Given the description of an element on the screen output the (x, y) to click on. 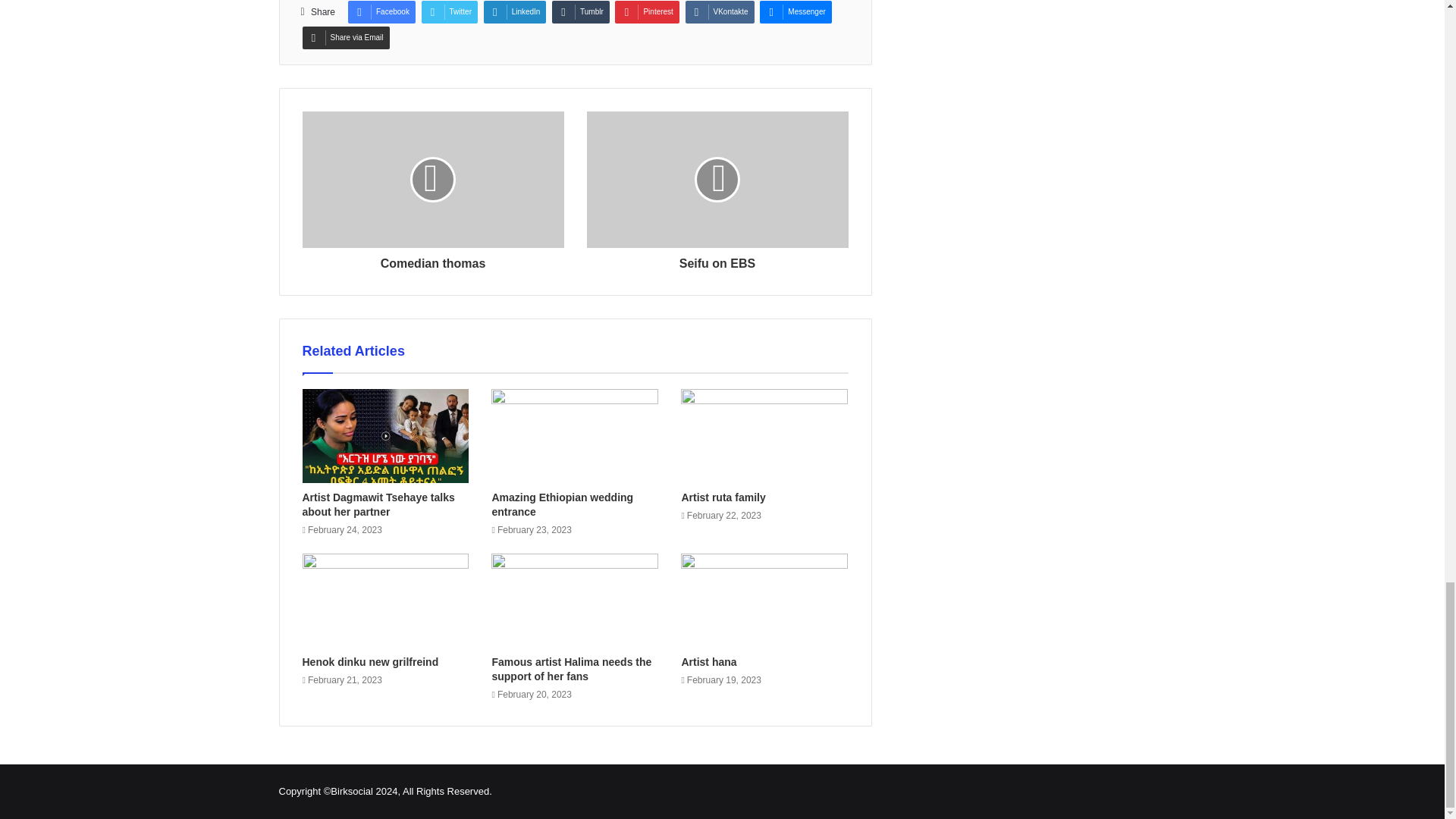
Twitter (449, 11)
LinkedIn (515, 11)
Tumblr (580, 11)
Facebook (380, 11)
